Given the description of an element on the screen output the (x, y) to click on. 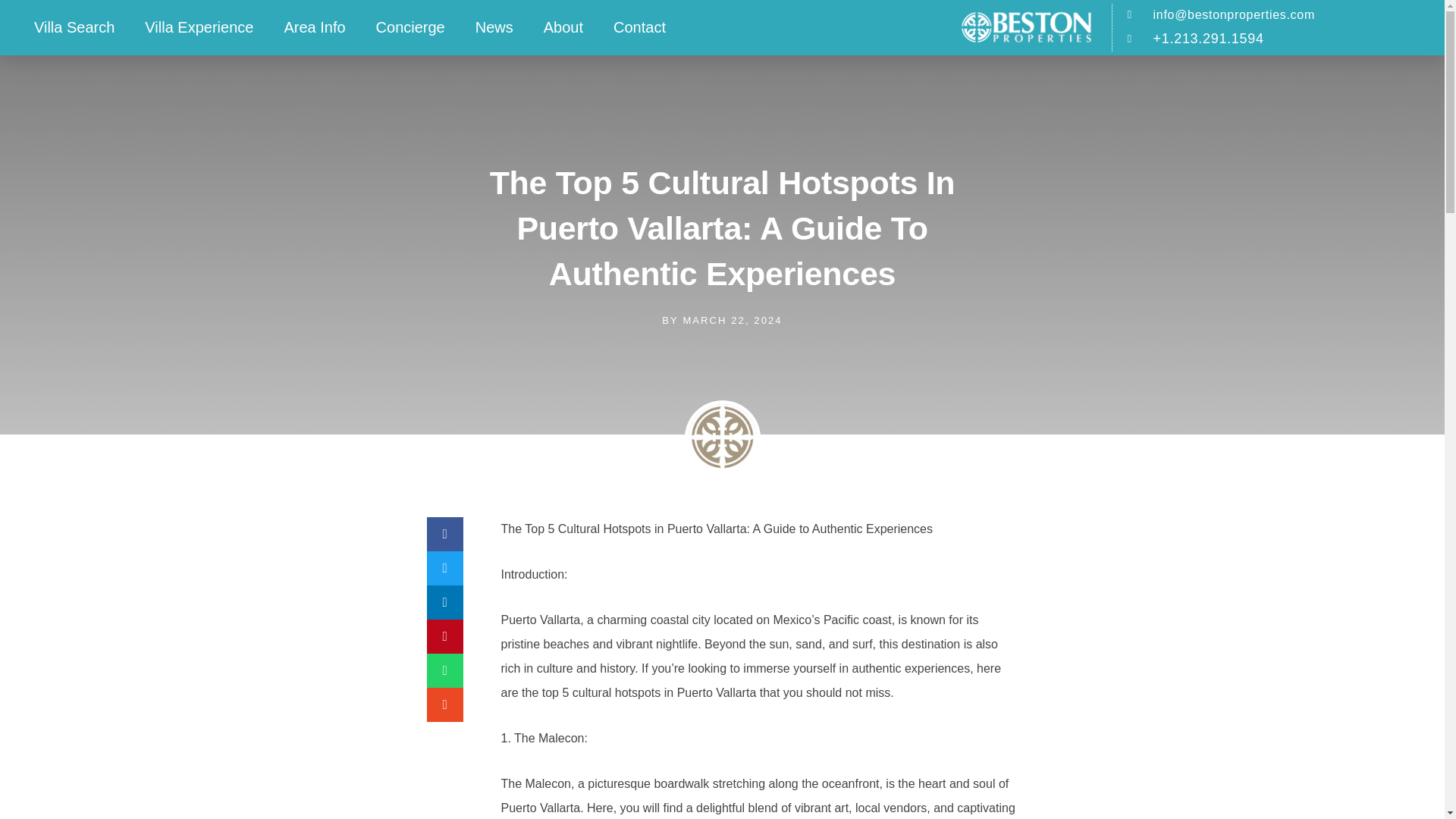
Contact (639, 27)
News (494, 27)
Villa Experience (198, 27)
Concierge (410, 27)
About (563, 27)
Villa Search (73, 27)
Area Info (313, 27)
